Given the description of an element on the screen output the (x, y) to click on. 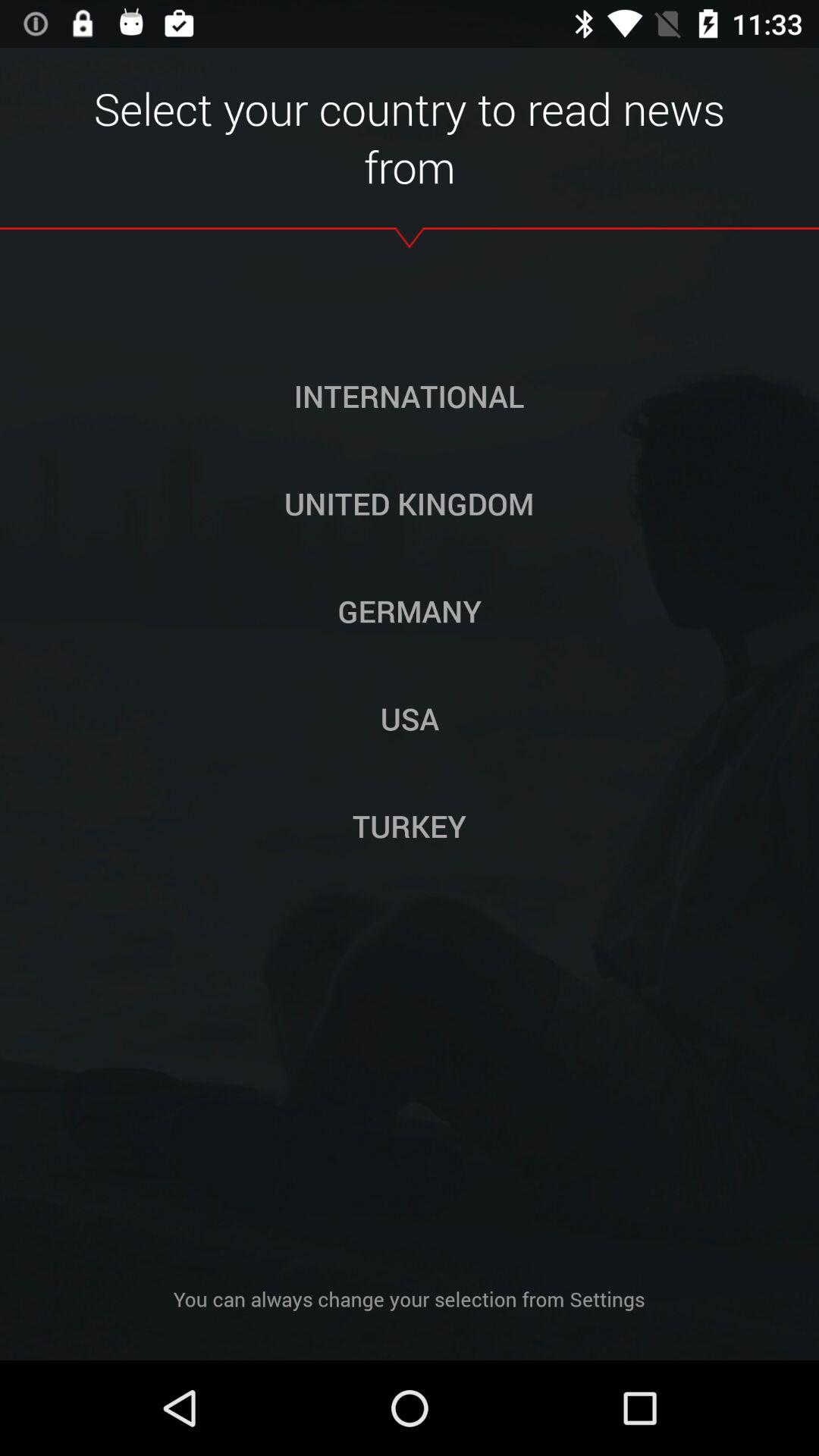
turn on the item above usa (409, 610)
